Given the description of an element on the screen output the (x, y) to click on. 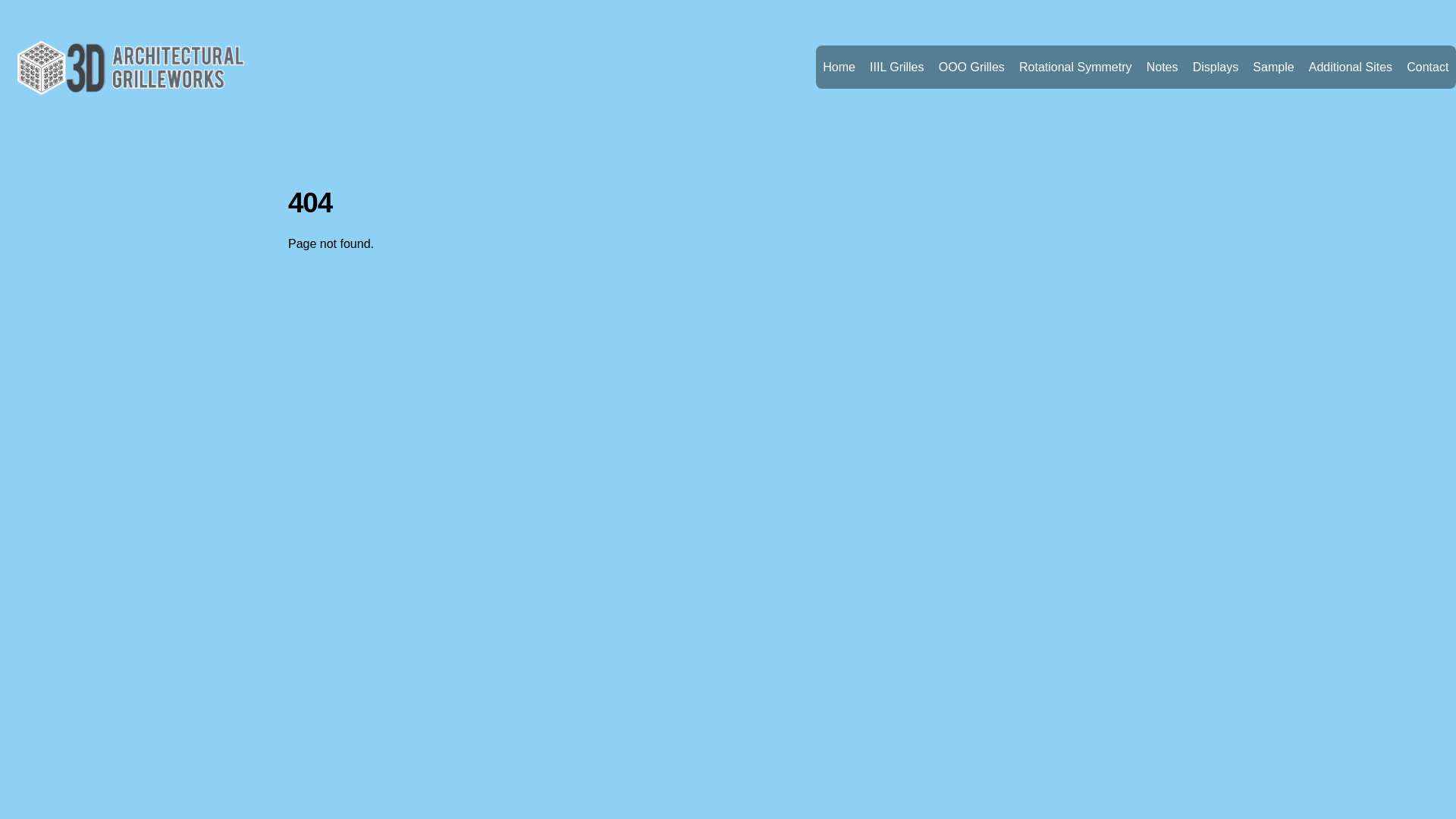
IIIL Grilles Element type: text (896, 66)
Notes Element type: text (1162, 66)
OOO Grilles Element type: text (971, 66)
Sample Element type: text (1273, 66)
Displays Element type: text (1215, 66)
Home Element type: text (838, 66)
Additional Sites Element type: text (1350, 66)
Rotational Symmetry Element type: text (1075, 66)
